Given the description of an element on the screen output the (x, y) to click on. 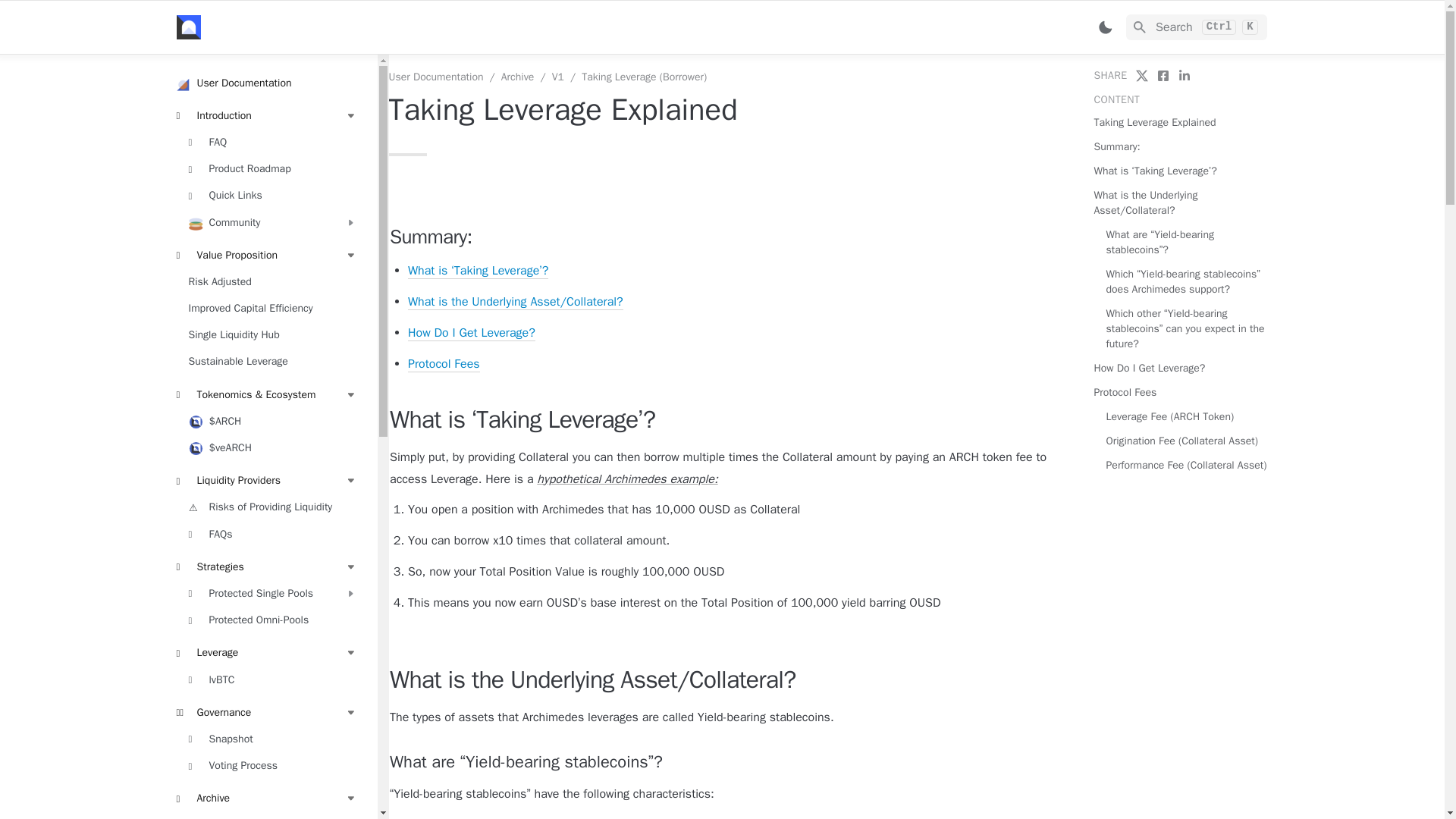
Risk Adjusted (1195, 27)
Community (272, 281)
V1 (272, 222)
Single Liquidity Hub (272, 816)
Improved Capital Efficiency (272, 335)
User Documentation (272, 309)
Sustainable Leverage (266, 83)
